Given the description of an element on the screen output the (x, y) to click on. 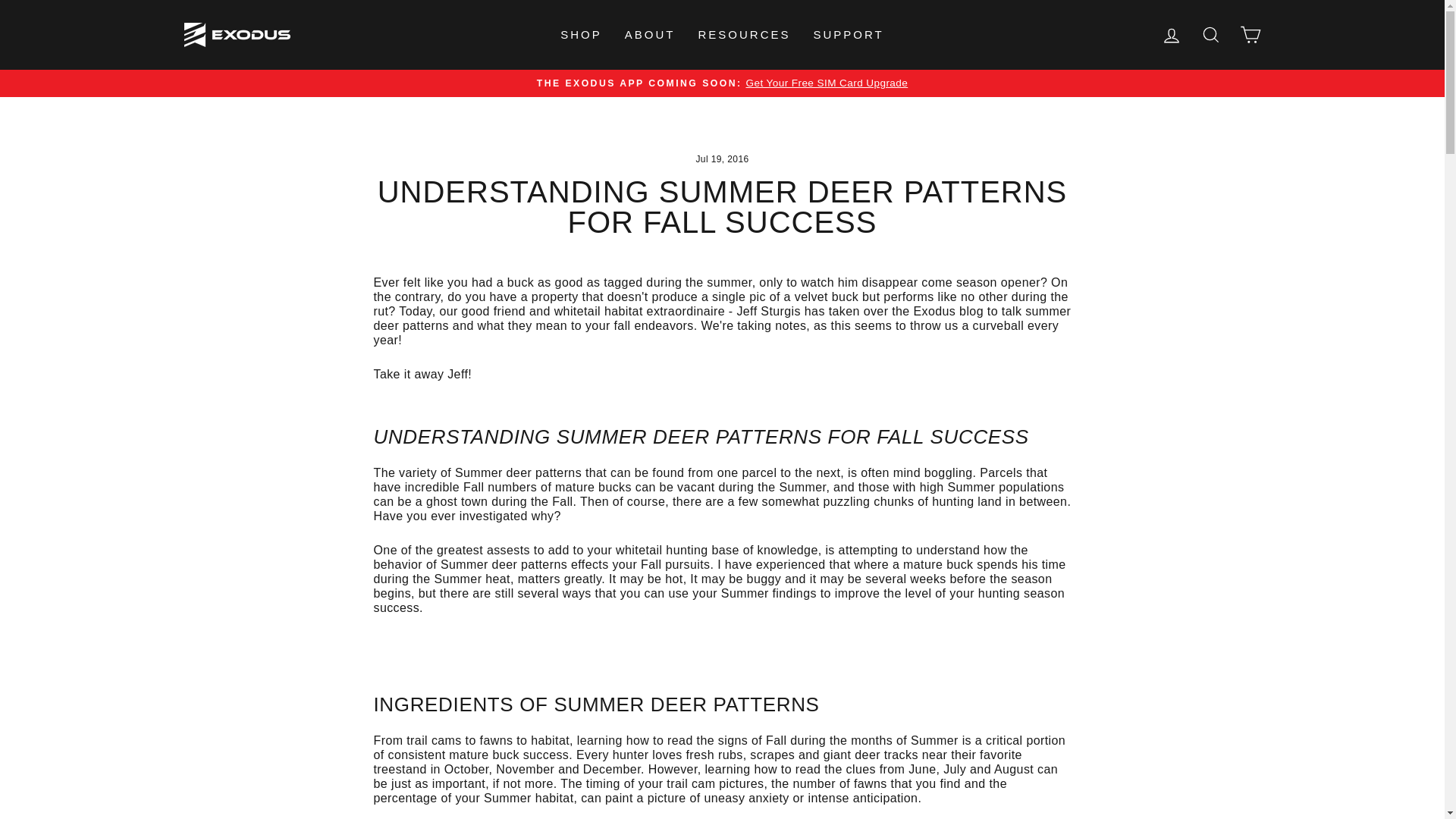
SHOP (580, 34)
